Given the description of an element on the screen output the (x, y) to click on. 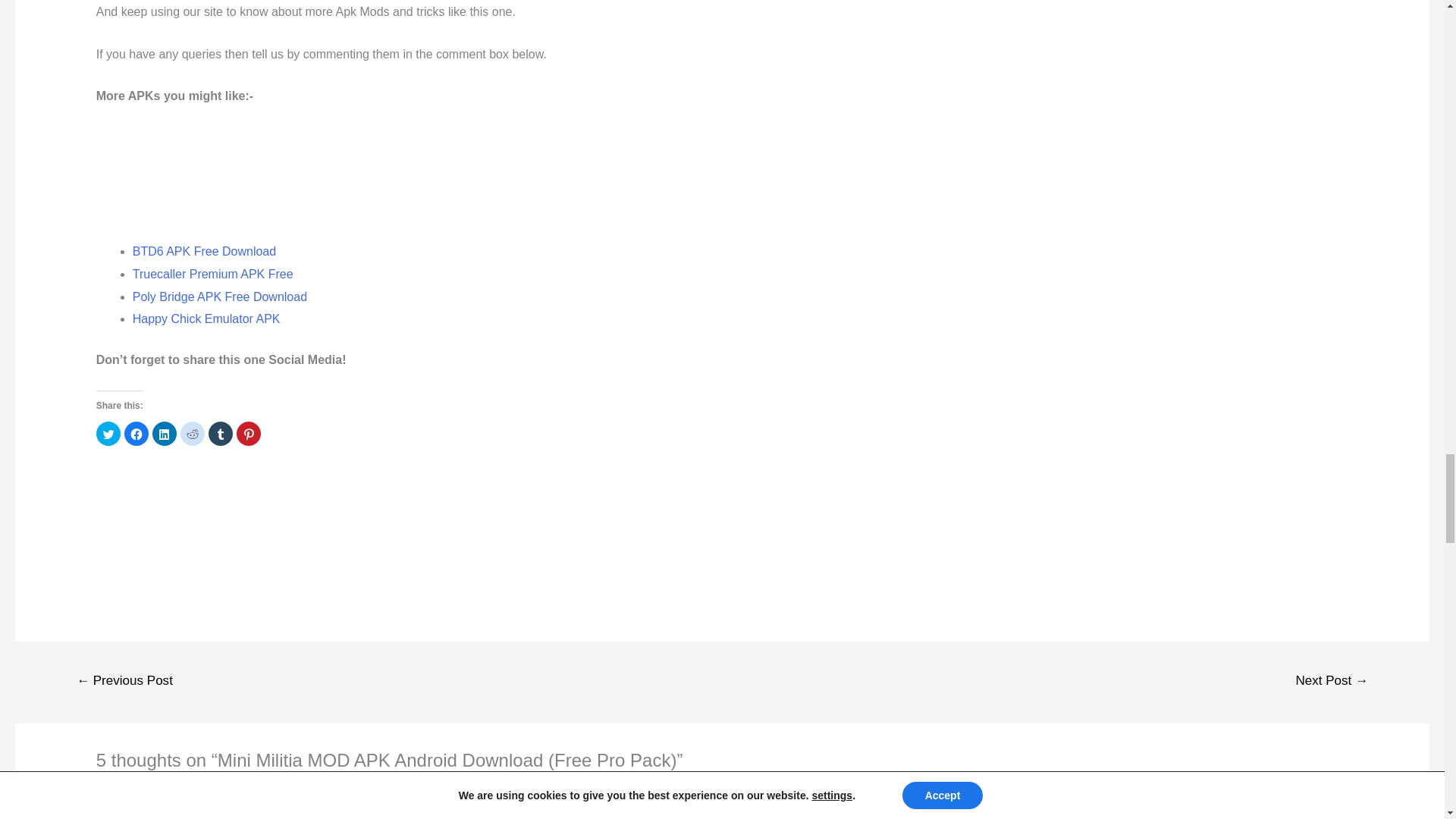
Click to share on Facebook (135, 433)
Truecaller Premium APK Free (213, 273)
BTD6 APK Free Download (204, 250)
Click to share on Reddit (192, 433)
Poly Bridge APK Free Download (219, 296)
Happy Chick Emulator APK (206, 318)
Click to share on LinkedIn (164, 433)
Click to share on Tumblr (220, 433)
Click to share on Pinterest (247, 433)
Click to share on Twitter (108, 433)
